Given the description of an element on the screen output the (x, y) to click on. 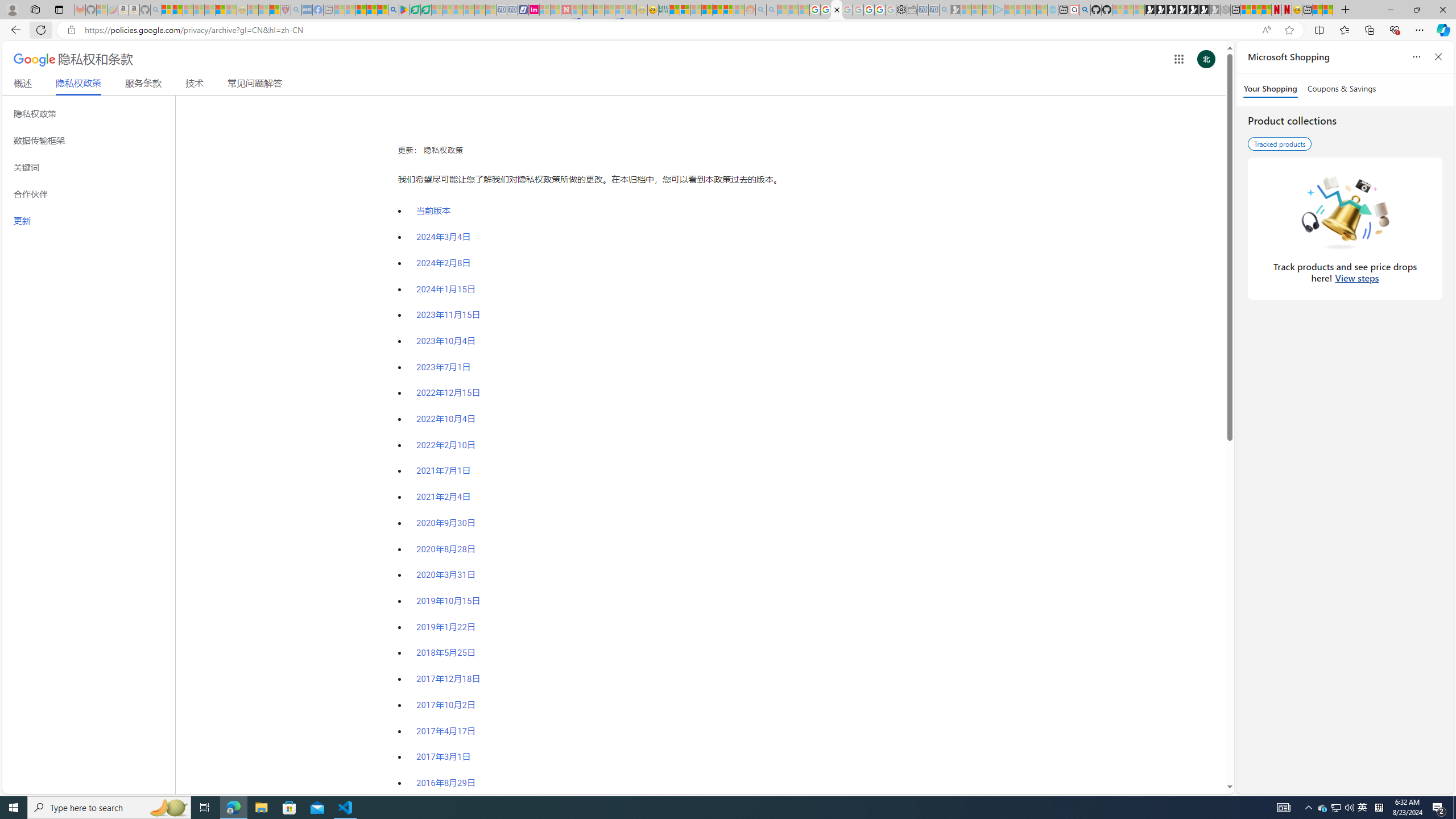
Microsoft Word - consumer-privacy address update 2.2021 (426, 9)
